Given the description of an element on the screen output the (x, y) to click on. 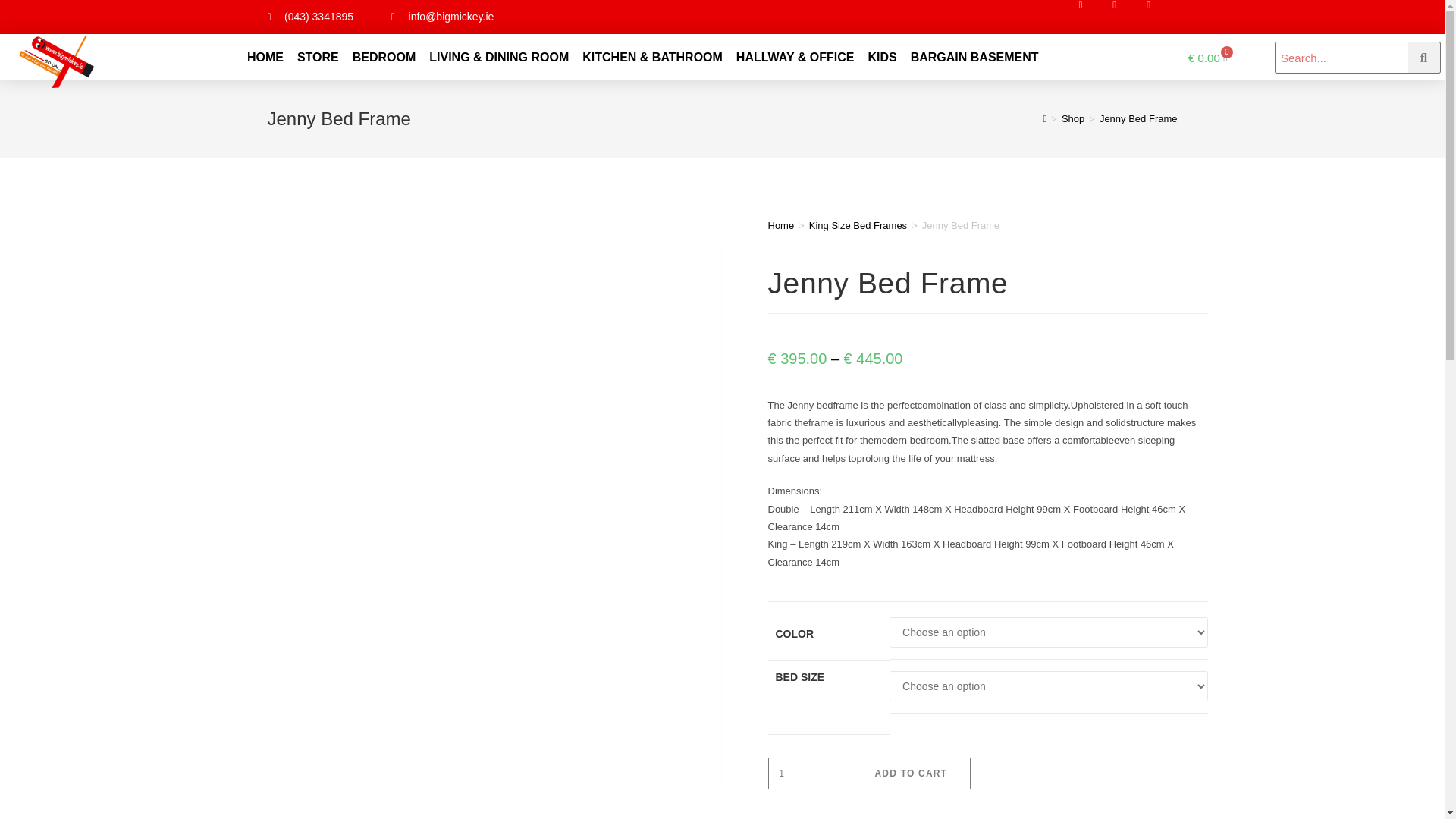
STORE (318, 56)
HOME (264, 56)
BEDROOM (384, 56)
